Given the description of an element on the screen output the (x, y) to click on. 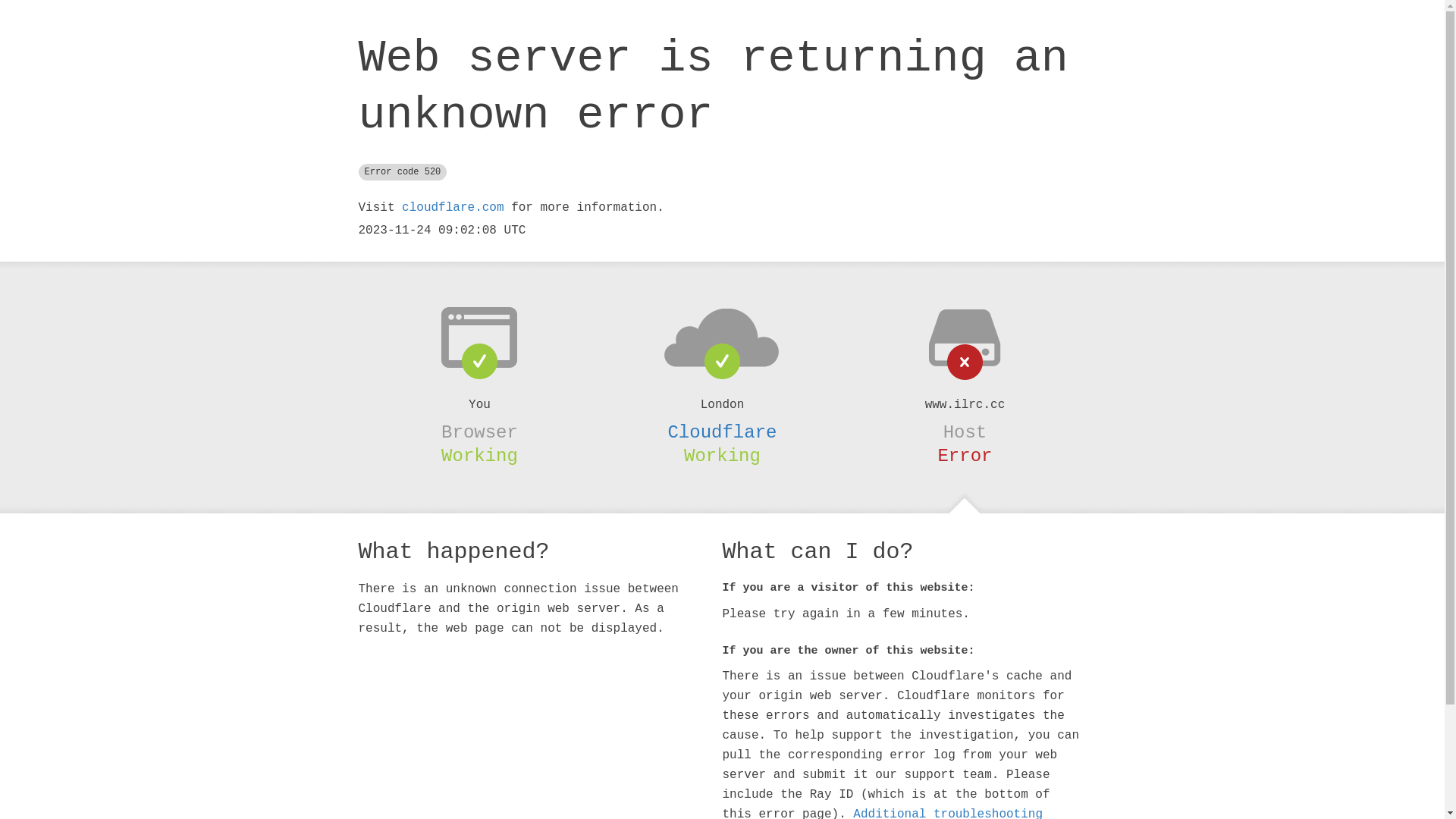
Cloudflare Element type: text (721, 432)
cloudflare.com Element type: text (452, 207)
